Given the description of an element on the screen output the (x, y) to click on. 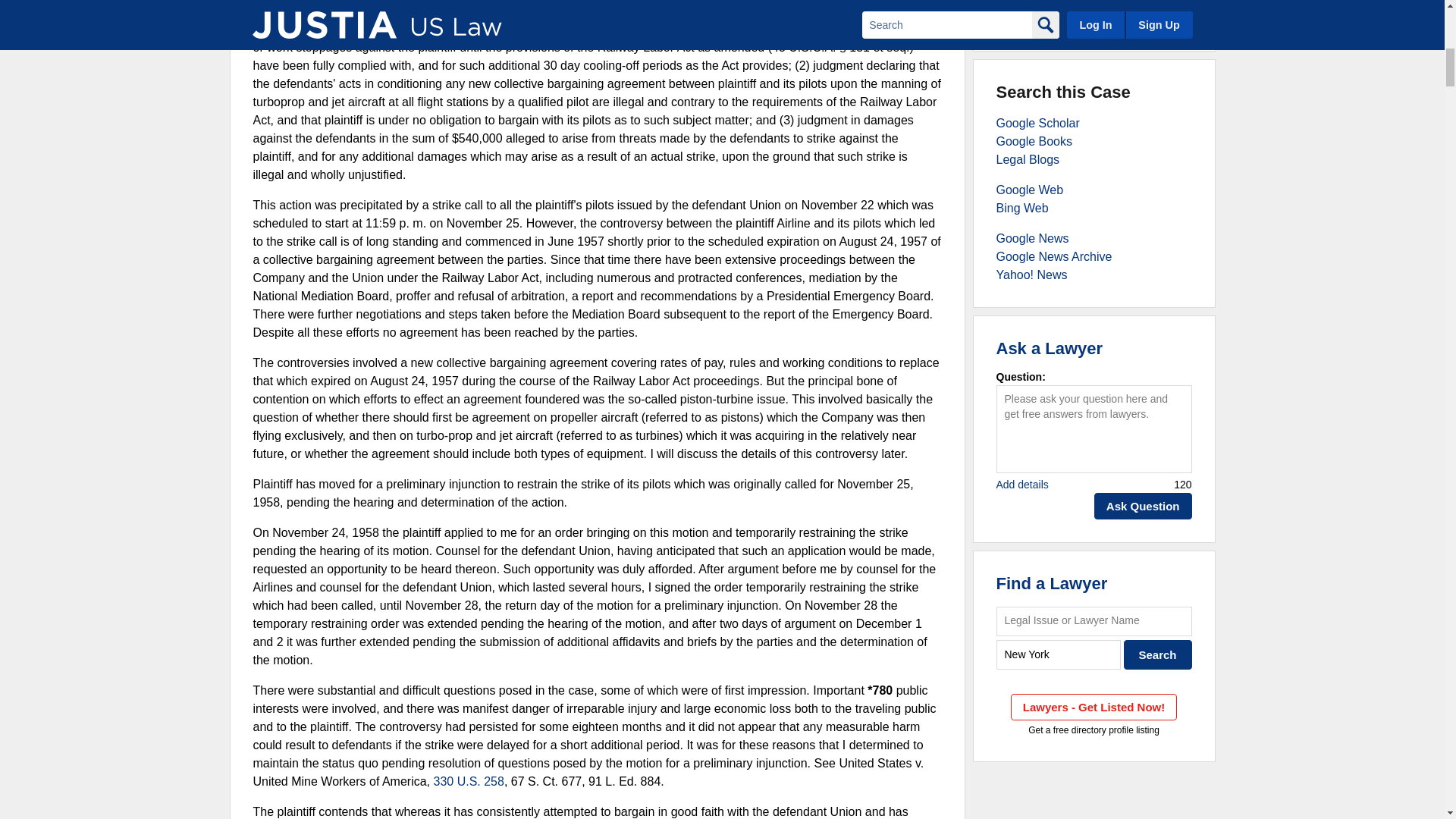
Law - Bing Web (1021, 207)
Law - Legal Blogs (1027, 159)
Law - Google Web (1029, 189)
330 U.S. 258 (468, 780)
Law - Yahoo! News (1031, 274)
Law - Google Books (1034, 141)
Search (1158, 654)
Legal Issue or Lawyer Name (1093, 621)
Law - Google News (1031, 237)
